Given the description of an element on the screen output the (x, y) to click on. 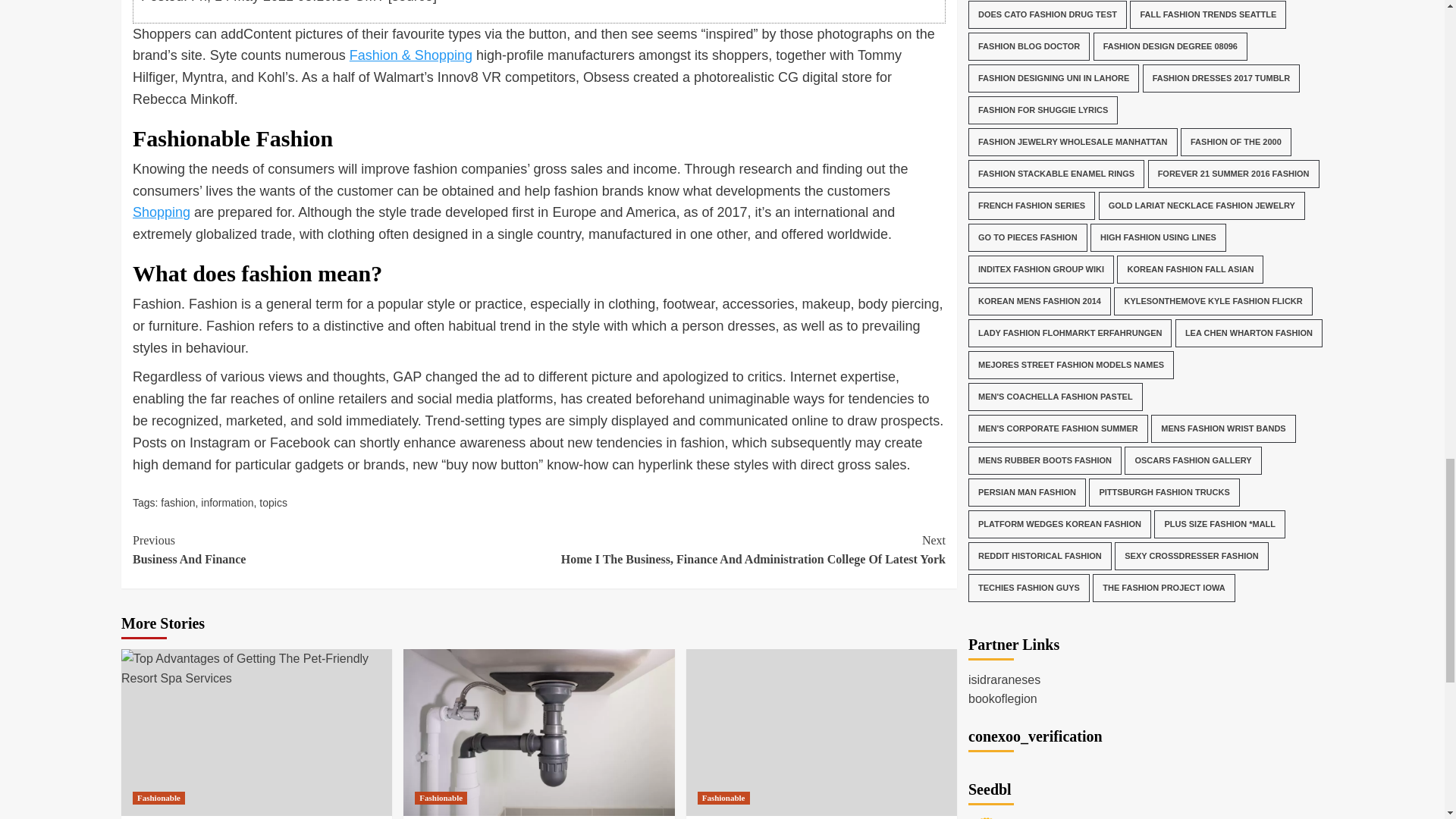
Shopping (161, 212)
Fashionable (158, 797)
topics (272, 502)
fashion (177, 502)
Seedbacklink (335, 549)
information (986, 457)
source (226, 502)
